Given the description of an element on the screen output the (x, y) to click on. 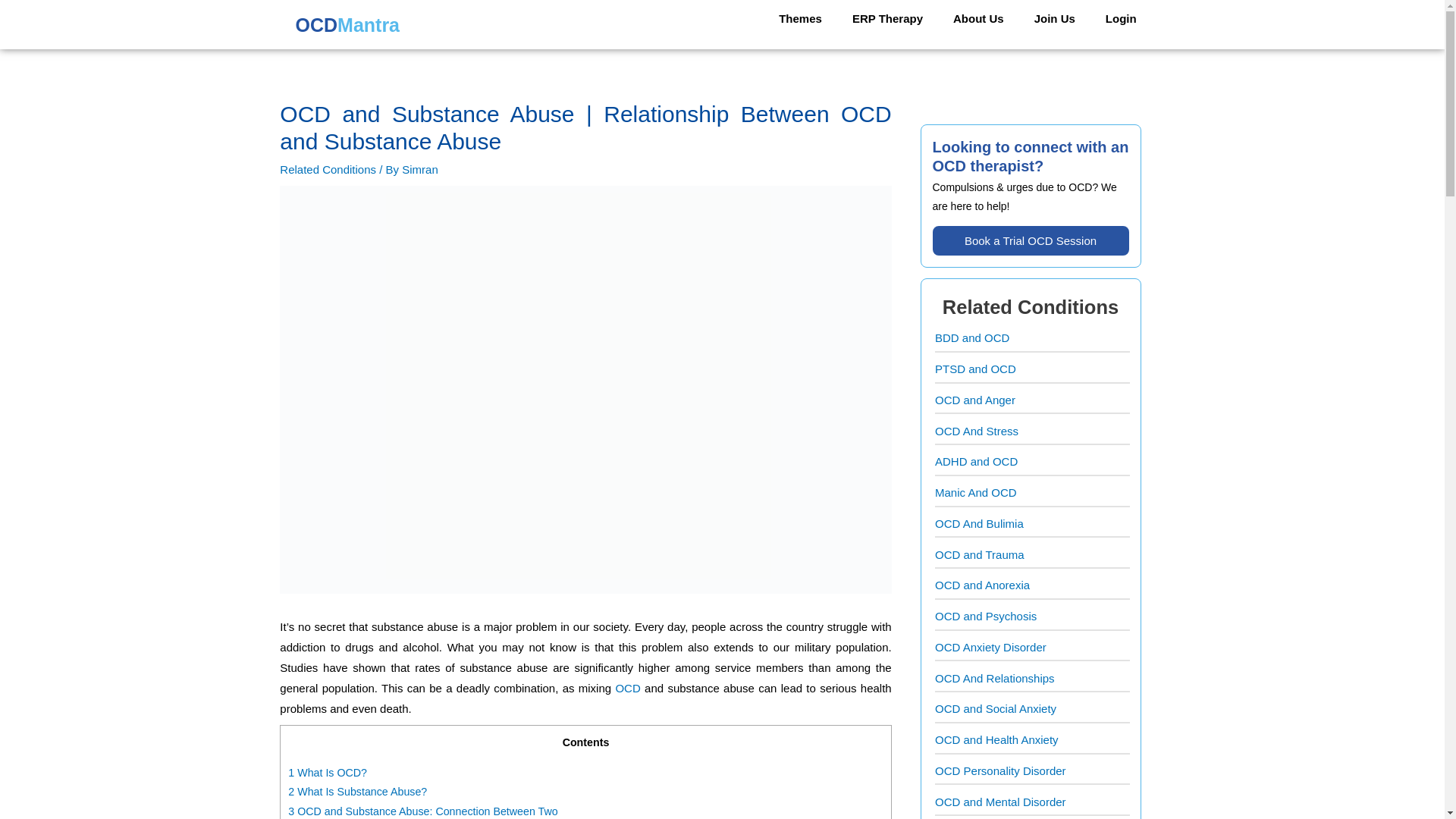
Themes (799, 18)
View all posts by Simran (419, 169)
Join Us (1054, 18)
Login (1120, 18)
OCDMantra (344, 27)
ERP Therapy (887, 18)
OCD (627, 687)
About Us (978, 18)
